Given the description of an element on the screen output the (x, y) to click on. 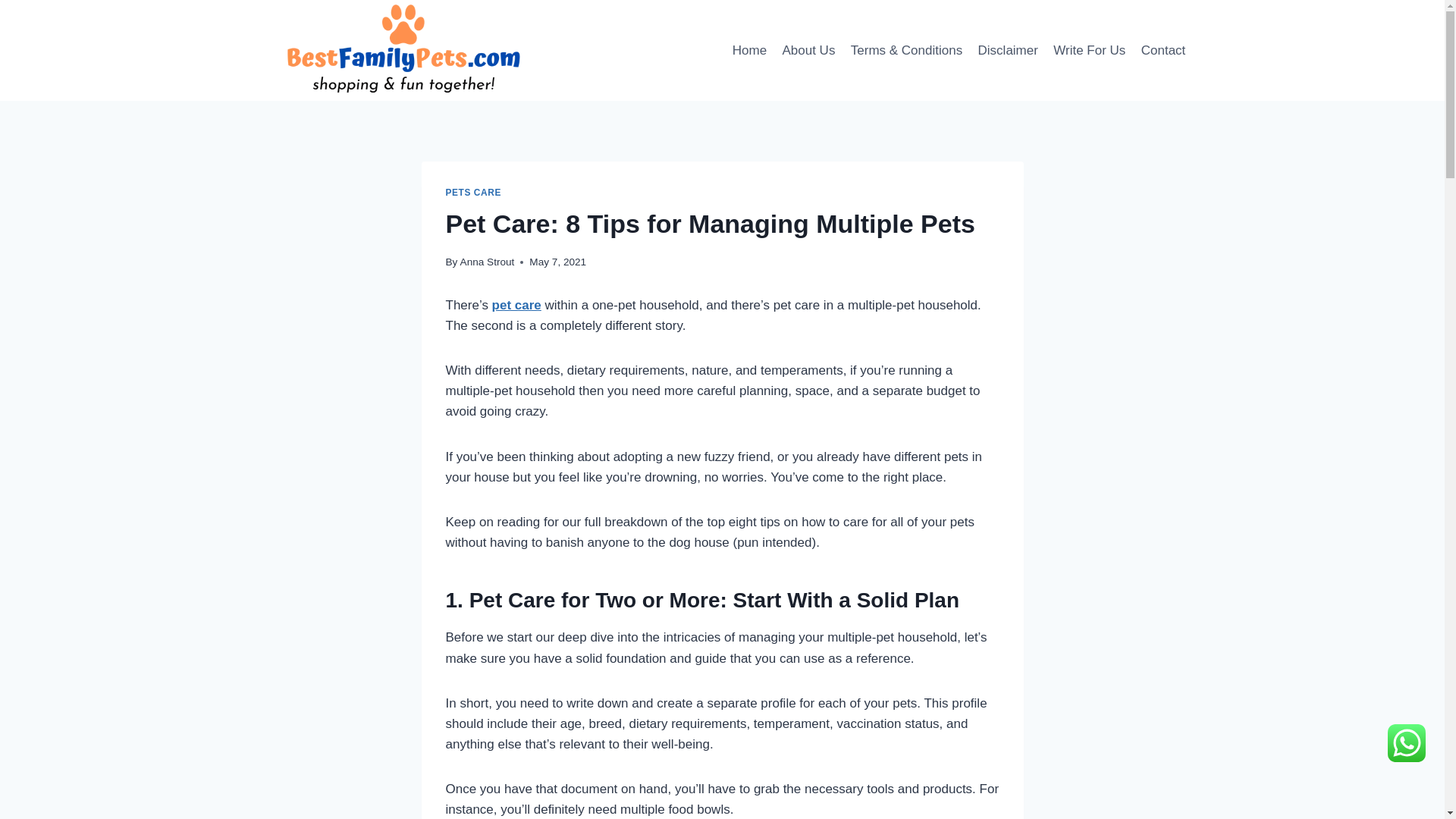
Disclaimer (1007, 50)
pet care (516, 305)
Contact (1163, 50)
Anna Strout (487, 261)
About Us (808, 50)
Home (749, 50)
PETS CARE (472, 192)
Write For Us (1088, 50)
